Given the description of an element on the screen output the (x, y) to click on. 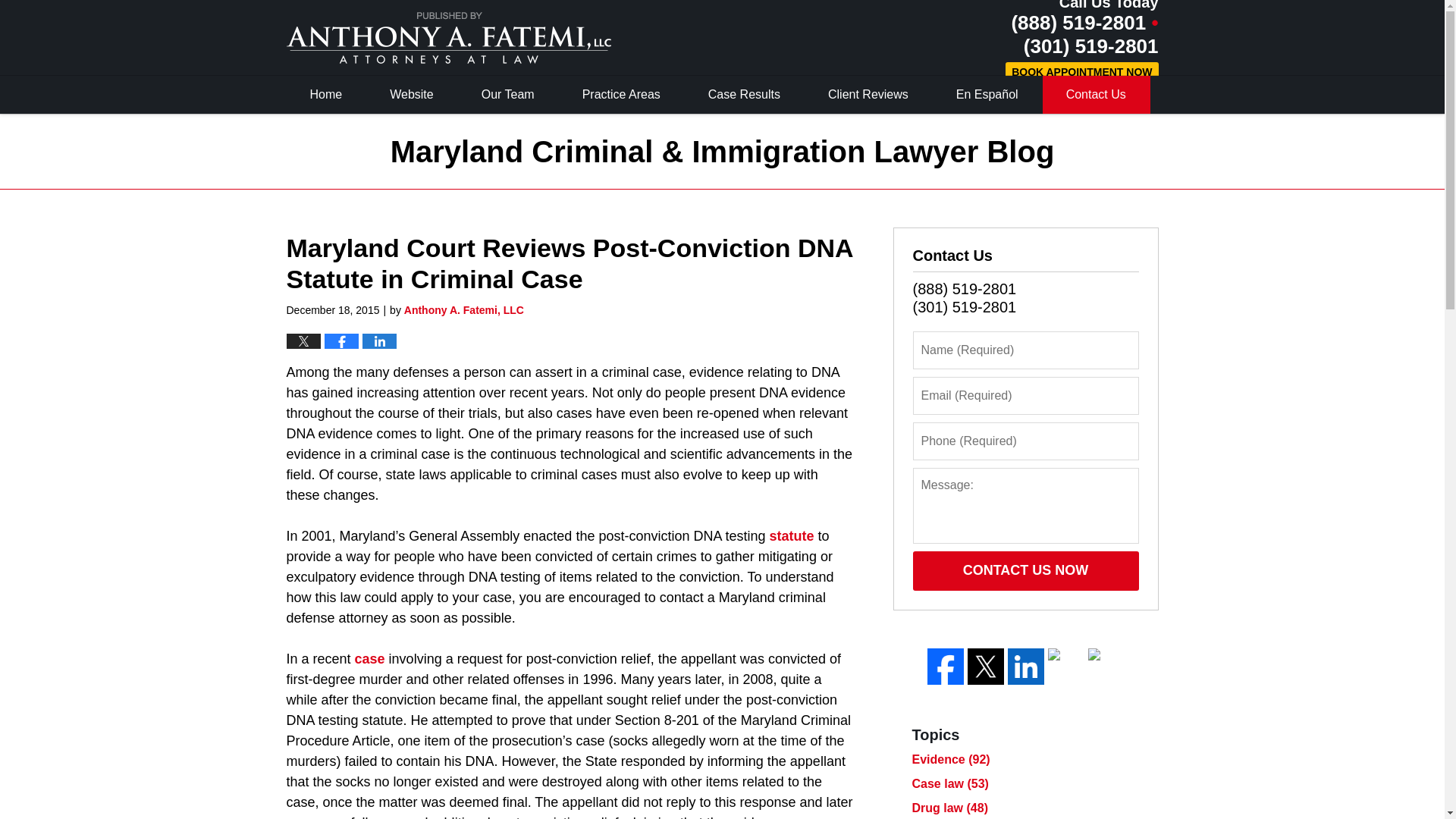
Case Results (744, 94)
LinkedIn (1025, 666)
Twitter (986, 666)
BOOK APPOINTMENT NOW (1081, 72)
Home (326, 94)
Justia (1066, 666)
Contact Us (1096, 94)
Our Team (508, 94)
Facebook (944, 666)
Client Reviews (869, 94)
Practice Areas (621, 94)
CONTACT US NOW (1025, 570)
Please enter a valid phone number. (1025, 441)
Anthony A. Fatemi, LLC (464, 309)
case (370, 658)
